Given the description of an element on the screen output the (x, y) to click on. 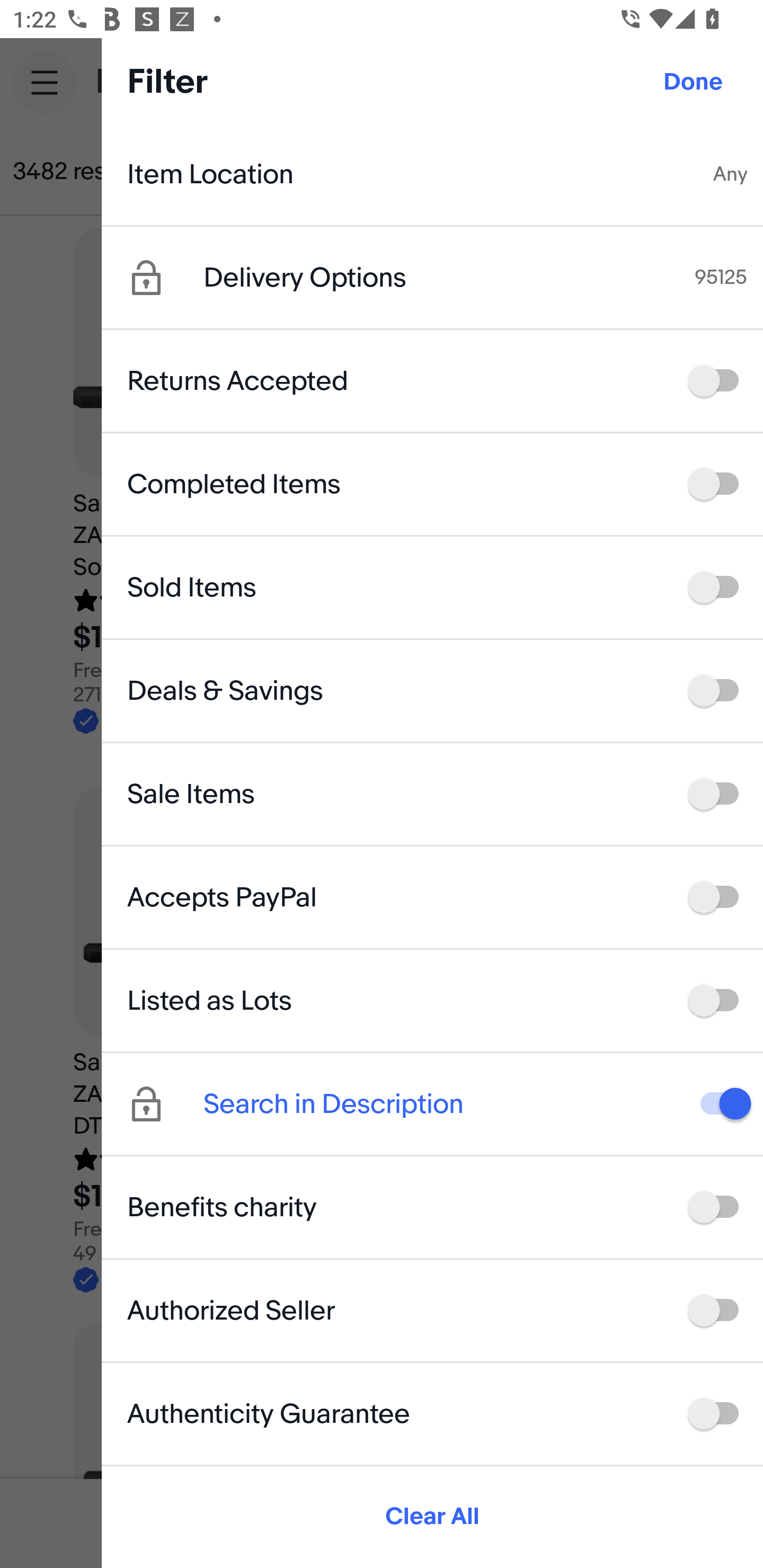
Done (693, 82)
Lock Delivery Options refinement (165, 277)
Clear All (432, 1516)
